Given the description of an element on the screen output the (x, y) to click on. 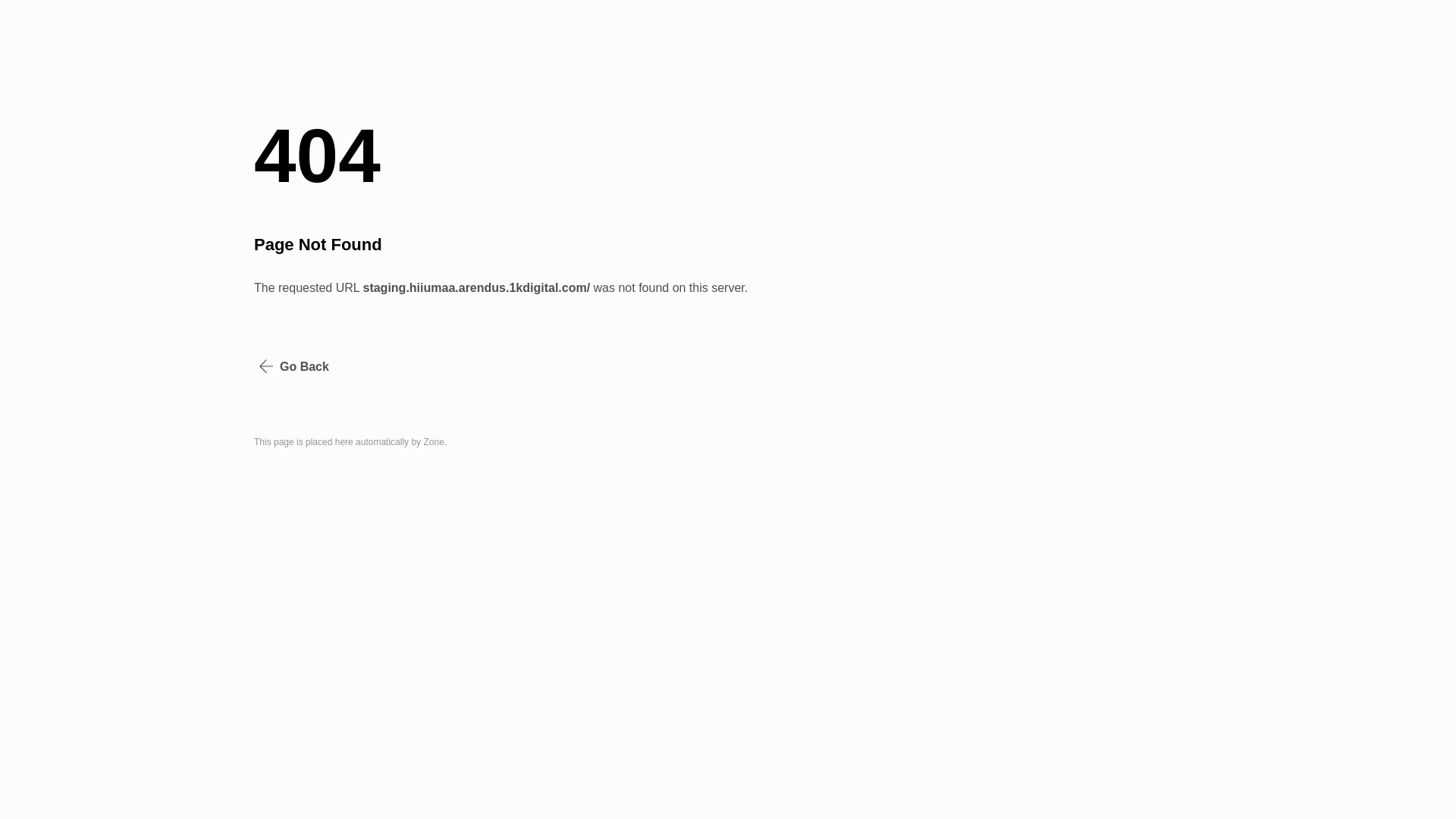
Go Back Element type: text (293, 366)
